Given the description of an element on the screen output the (x, y) to click on. 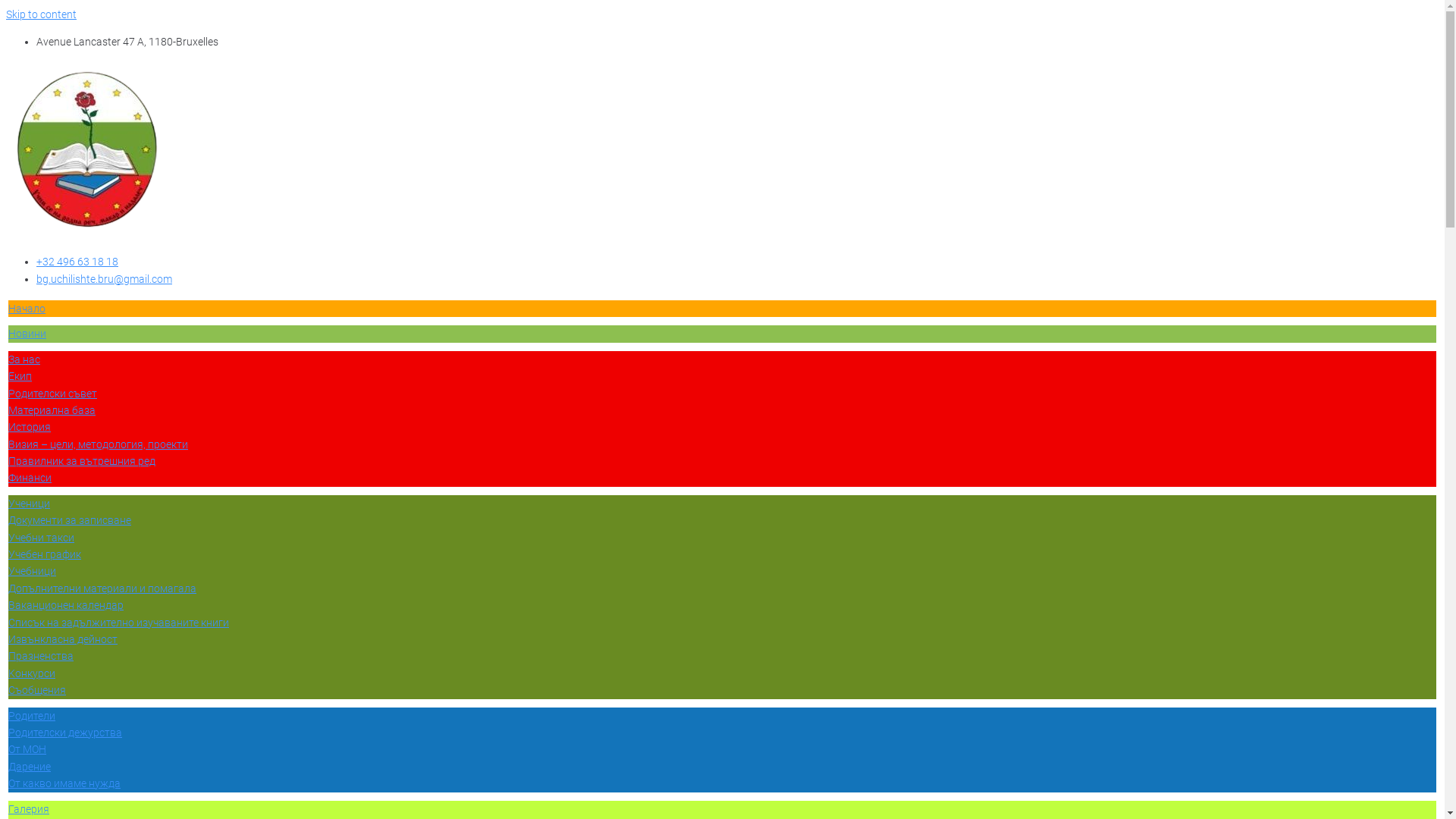
Skip to content Element type: text (41, 14)
bg.uchilishte.bru@gmail.com Element type: text (104, 279)
+32 496 63 18 18 Element type: text (77, 261)
